Given the description of an element on the screen output the (x, y) to click on. 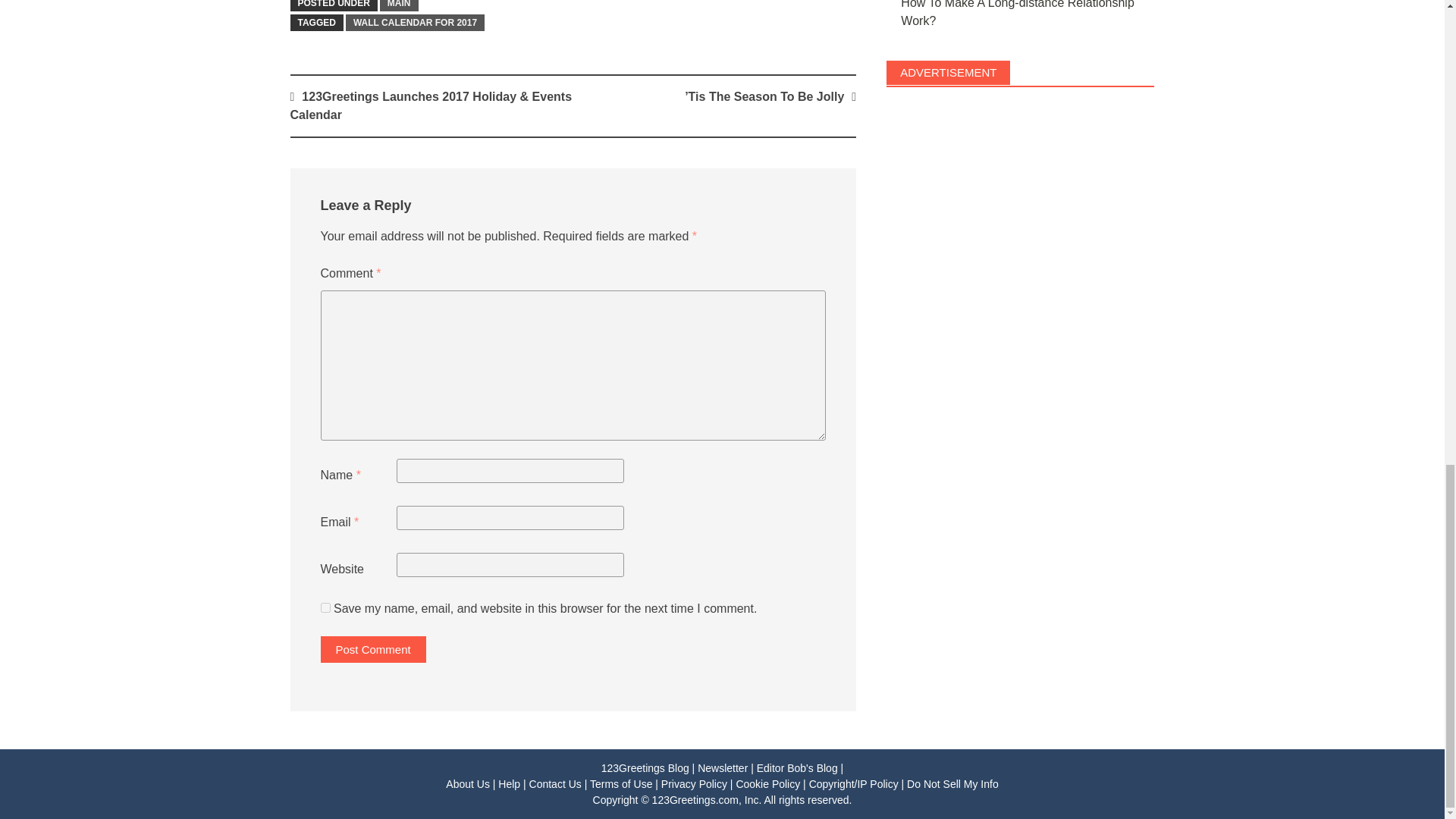
Post Comment (372, 649)
MAIN (399, 5)
Post Comment (372, 649)
yes (325, 607)
WALL CALENDAR FOR 2017 (415, 22)
